Given the description of an element on the screen output the (x, y) to click on. 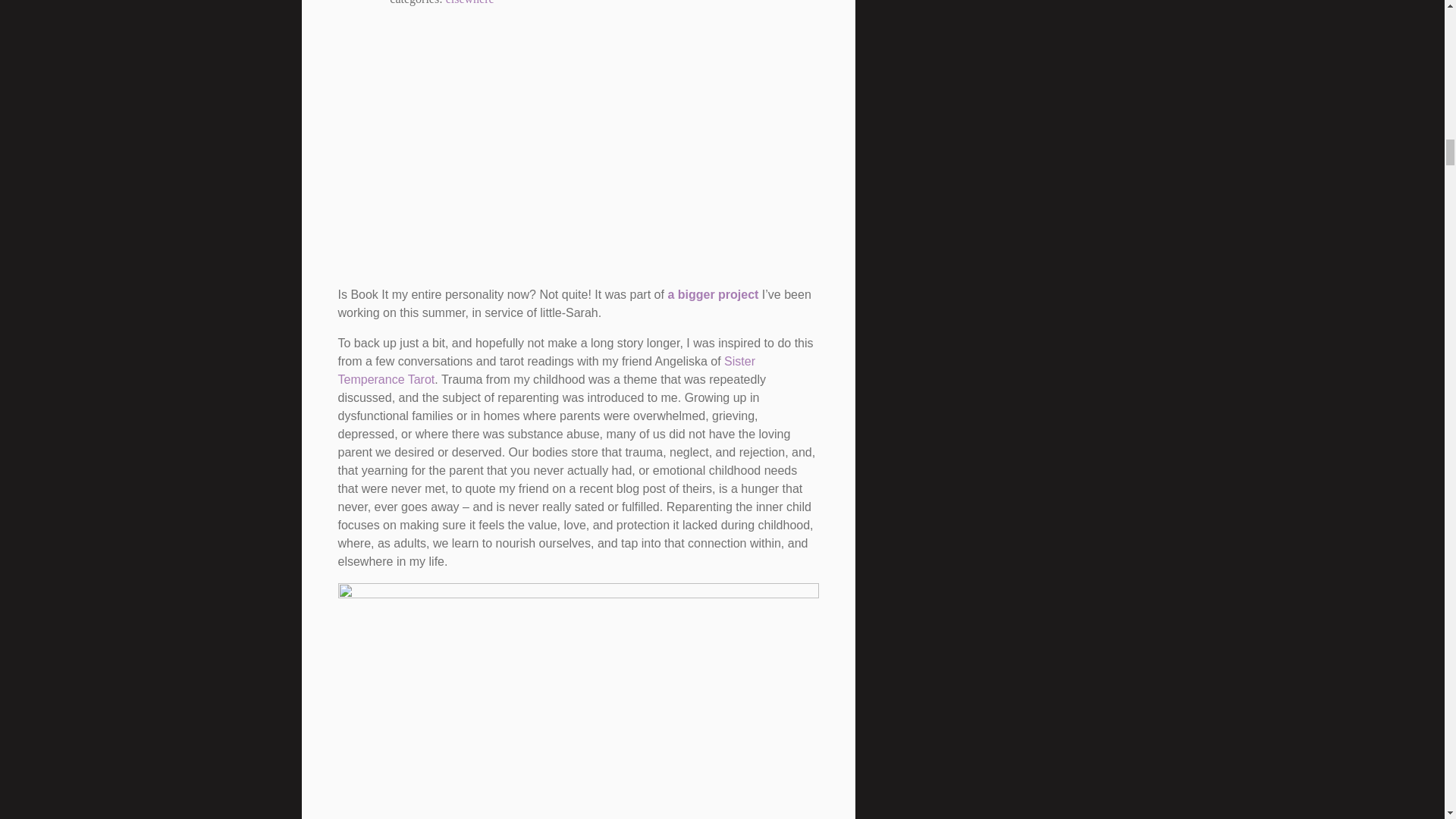
YouTube video player (549, 148)
